Given the description of an element on the screen output the (x, y) to click on. 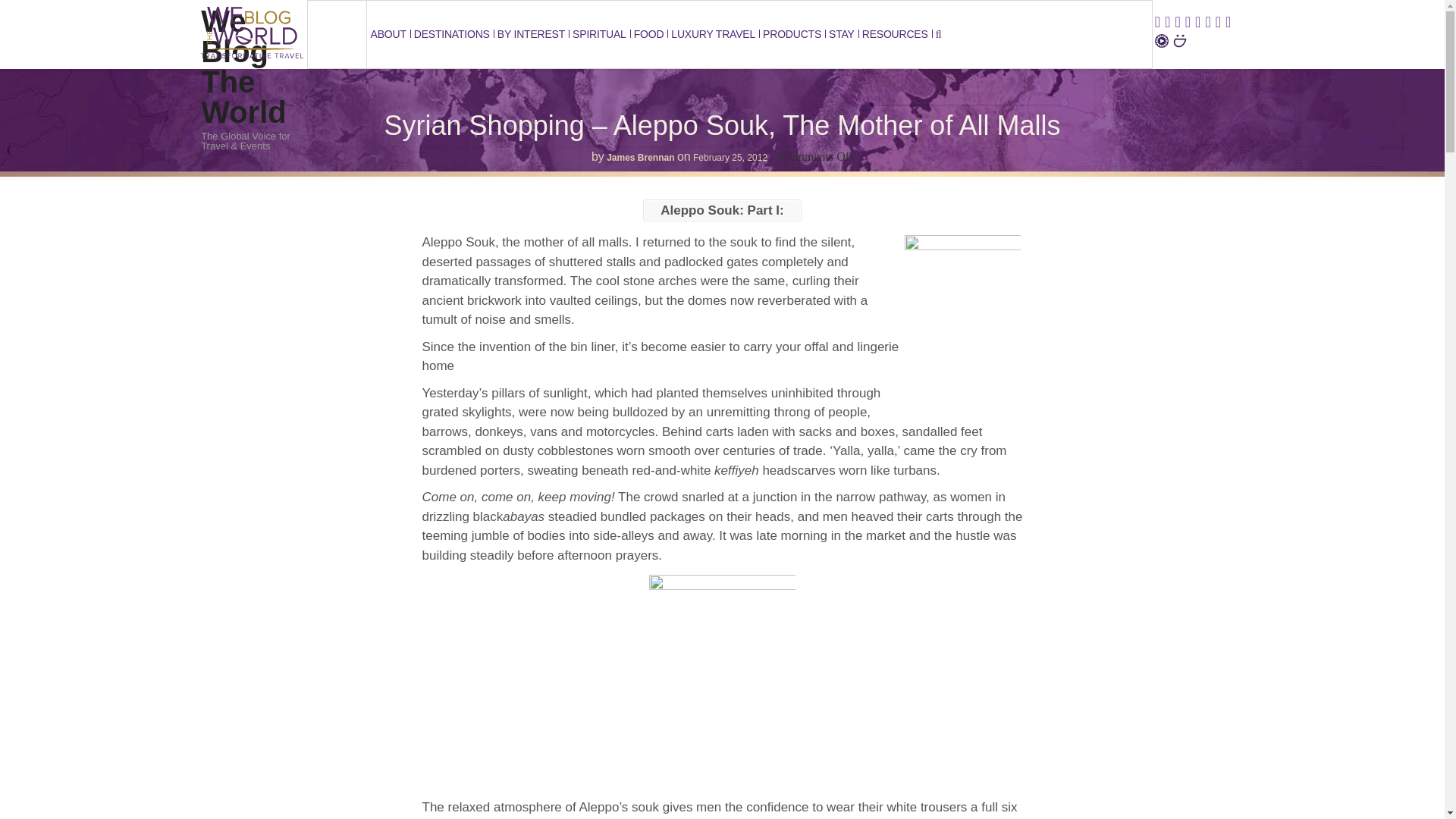
DESTINATIONS (452, 33)
Posts by James Brennan (640, 157)
BY INTEREST (531, 33)
2012-02-25T07:11:54-0800 (730, 157)
